Given the description of an element on the screen output the (x, y) to click on. 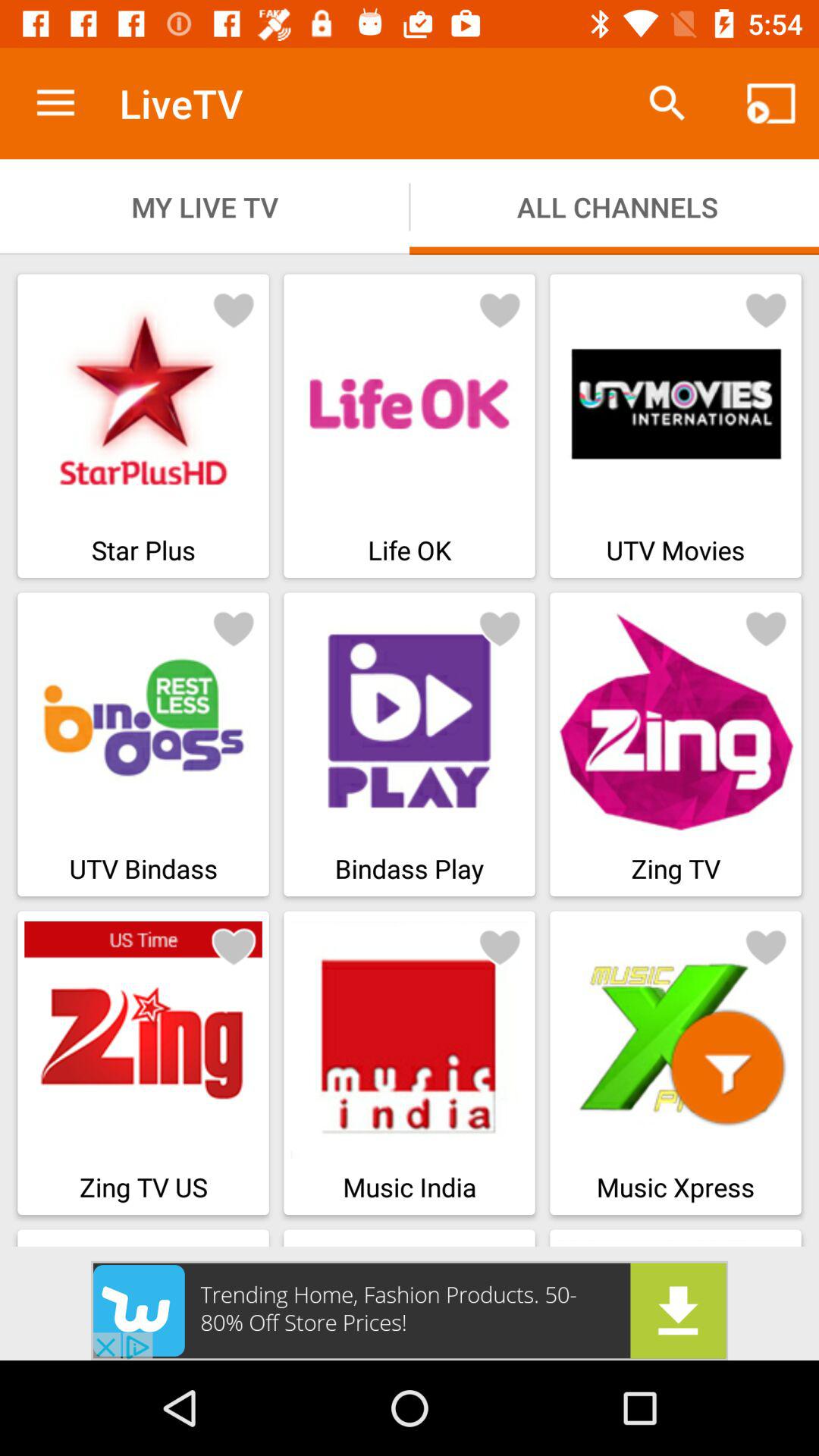
like bindass play channel (499, 627)
